Given the description of an element on the screen output the (x, y) to click on. 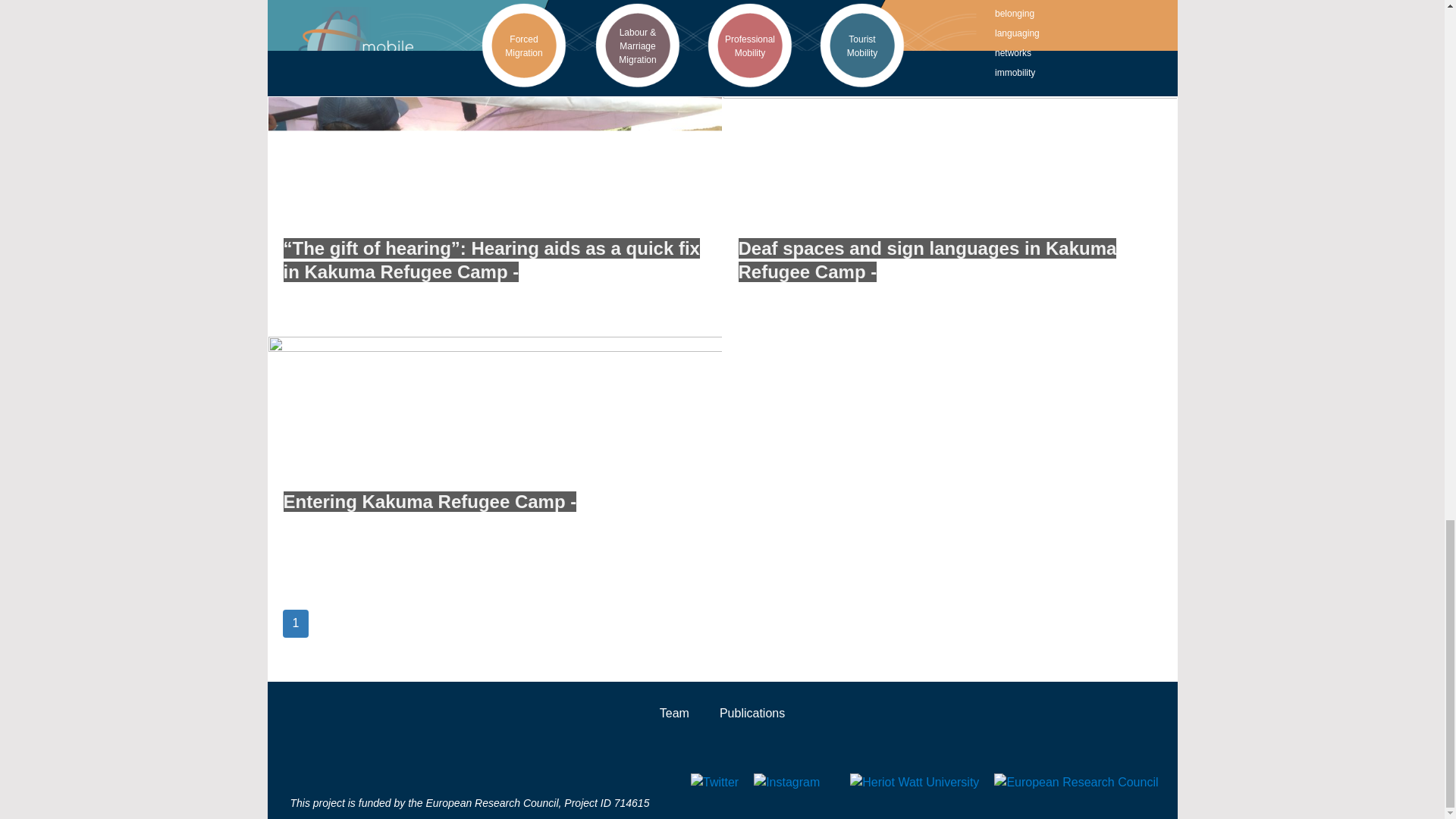
1 (295, 623)
Publications (751, 712)
Deaf mobility and immobility: Who travels and where? - (938, 14)
Entering Kakuma Refugee Camp - (429, 501)
Cultural schemes impact on sign language translation - (468, 14)
Current page is 1 (295, 623)
Deaf spaces and sign languages in Kakuma Refugee Camp - (927, 259)
Team (673, 712)
